Given the description of an element on the screen output the (x, y) to click on. 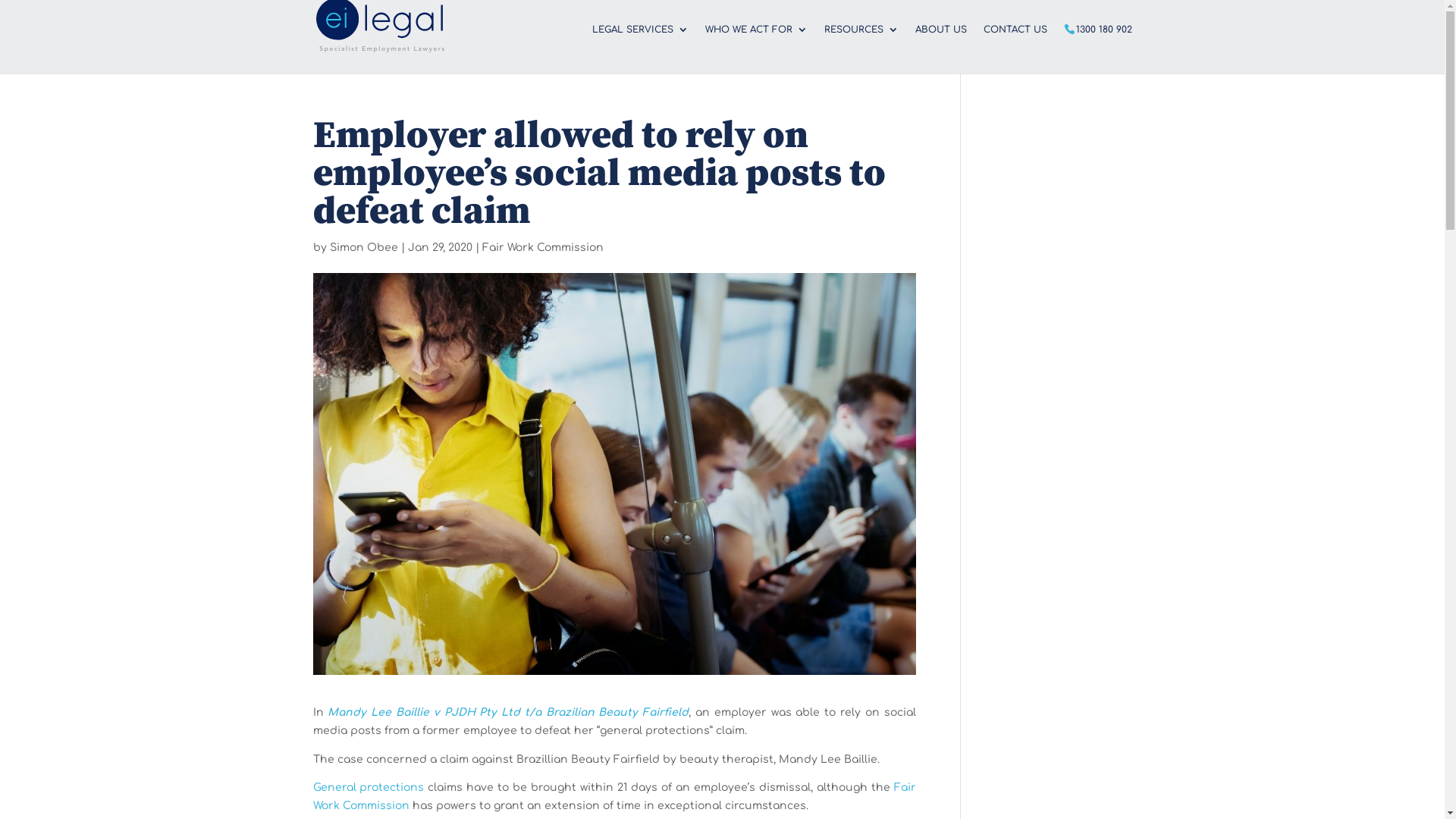
ABOUT US Element type: text (940, 48)
1300 180 902 Element type: text (1103, 48)
Simon Obee Element type: text (363, 247)
General protections Element type: text (367, 787)
CONTACT US Element type: text (1014, 48)
WHO WE ACT FOR Element type: text (756, 48)
Fair Work Commission Element type: text (542, 247)
Fair Work Commission Element type: text (613, 796)
RESOURCES Element type: text (860, 48)
LEGAL SERVICES Element type: text (639, 48)
